Given the description of an element on the screen output the (x, y) to click on. 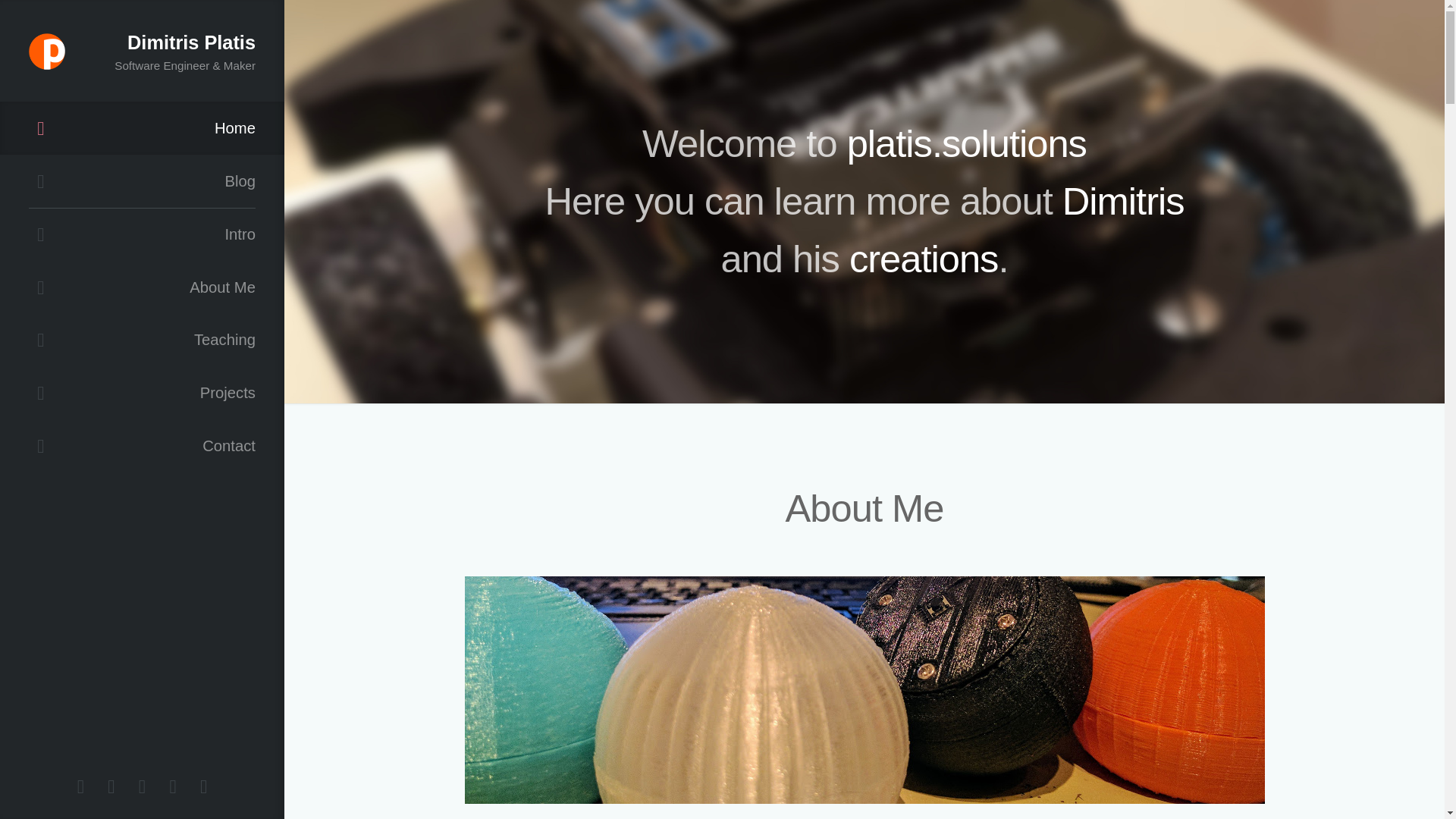
About Me (141, 287)
Teaching (141, 339)
Teaching (141, 339)
Intro (141, 234)
Intro (141, 234)
Projects (141, 392)
Projects (141, 392)
Contact (141, 445)
Blog (141, 181)
Home (141, 127)
Contact (141, 445)
About Me (141, 287)
